Given the description of an element on the screen output the (x, y) to click on. 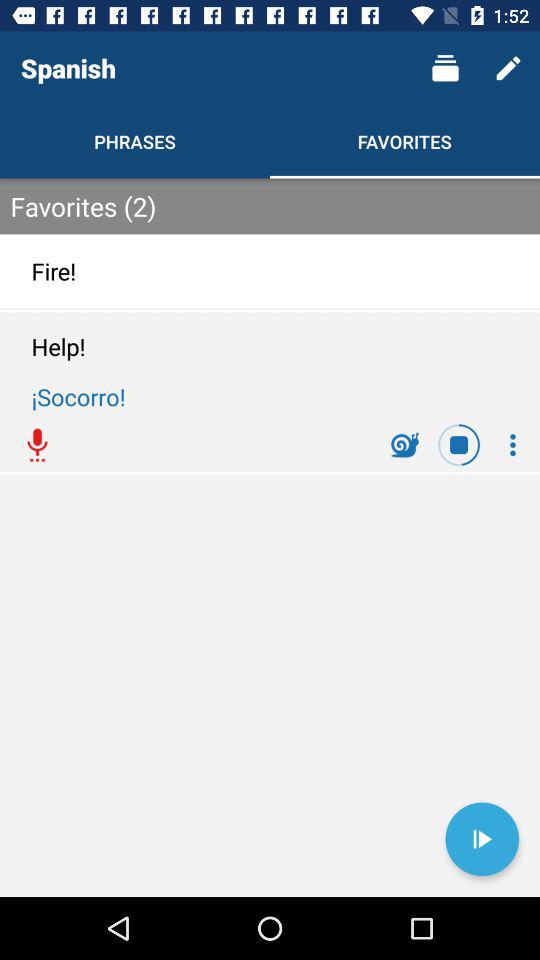
turn off item above the favorites (444, 67)
